Given the description of an element on the screen output the (x, y) to click on. 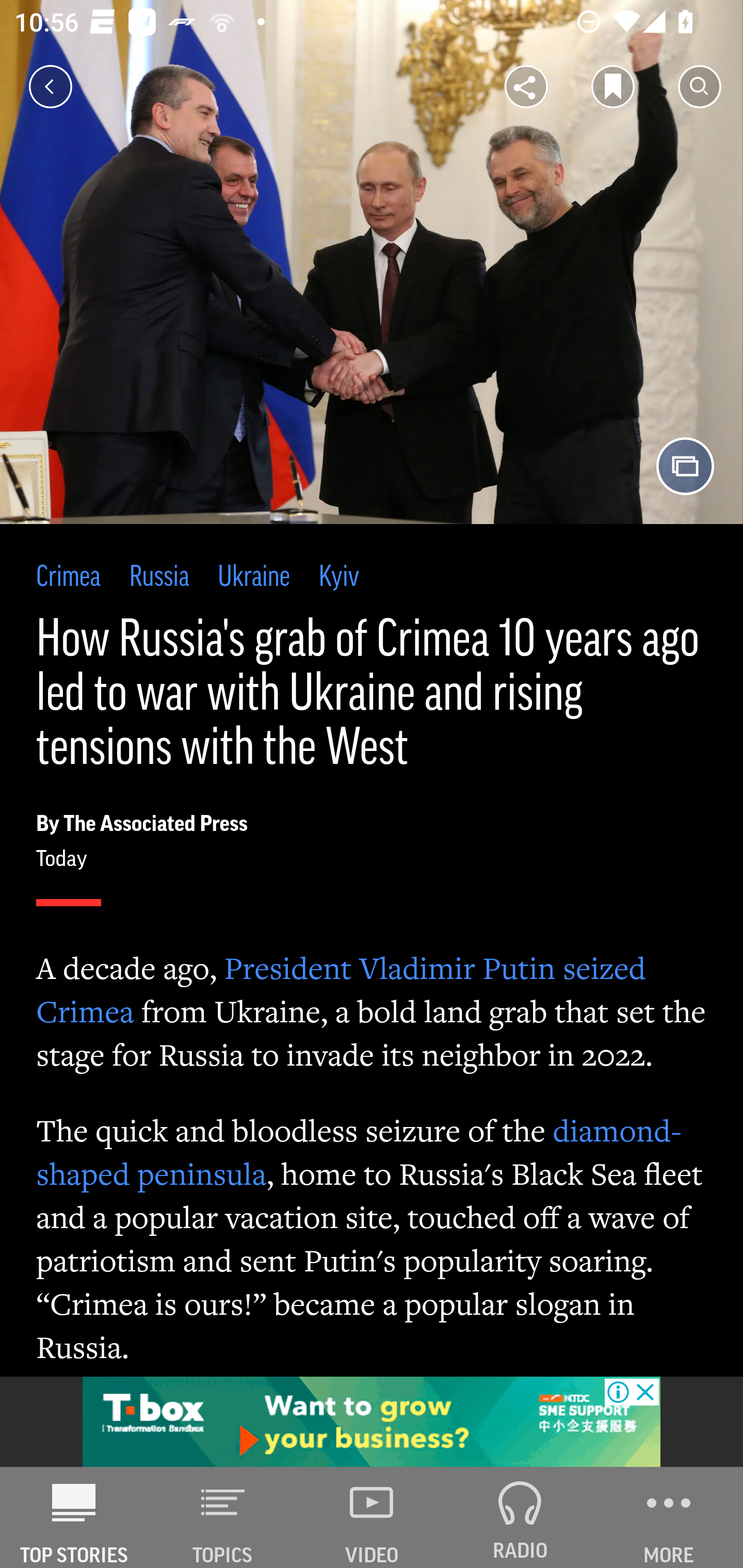
Crimea (68, 577)
Russia (158, 577)
Ukraine (253, 577)
Kyiv (339, 577)
President Vladimir Putin seized Crimea (341, 990)
diamond-shaped peninsula (359, 1151)
tbox%3FDCSext (371, 1421)
AP News TOP STORIES (74, 1517)
TOPICS (222, 1517)
VIDEO (371, 1517)
RADIO (519, 1517)
MORE (668, 1517)
